Given the description of an element on the screen output the (x, y) to click on. 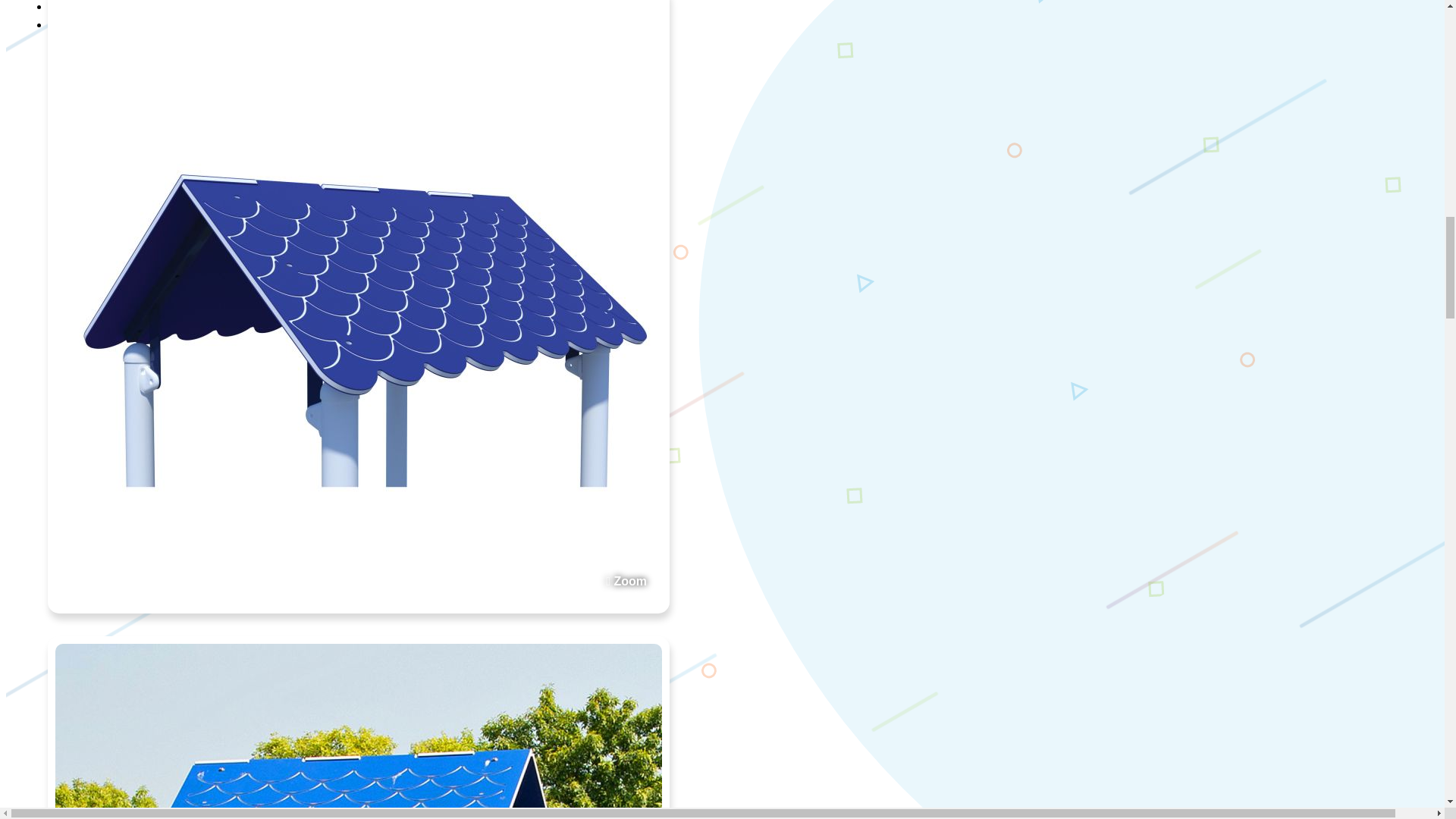
Rootz Nature Playgrounds (880, 807)
